Given the description of an element on the screen output the (x, y) to click on. 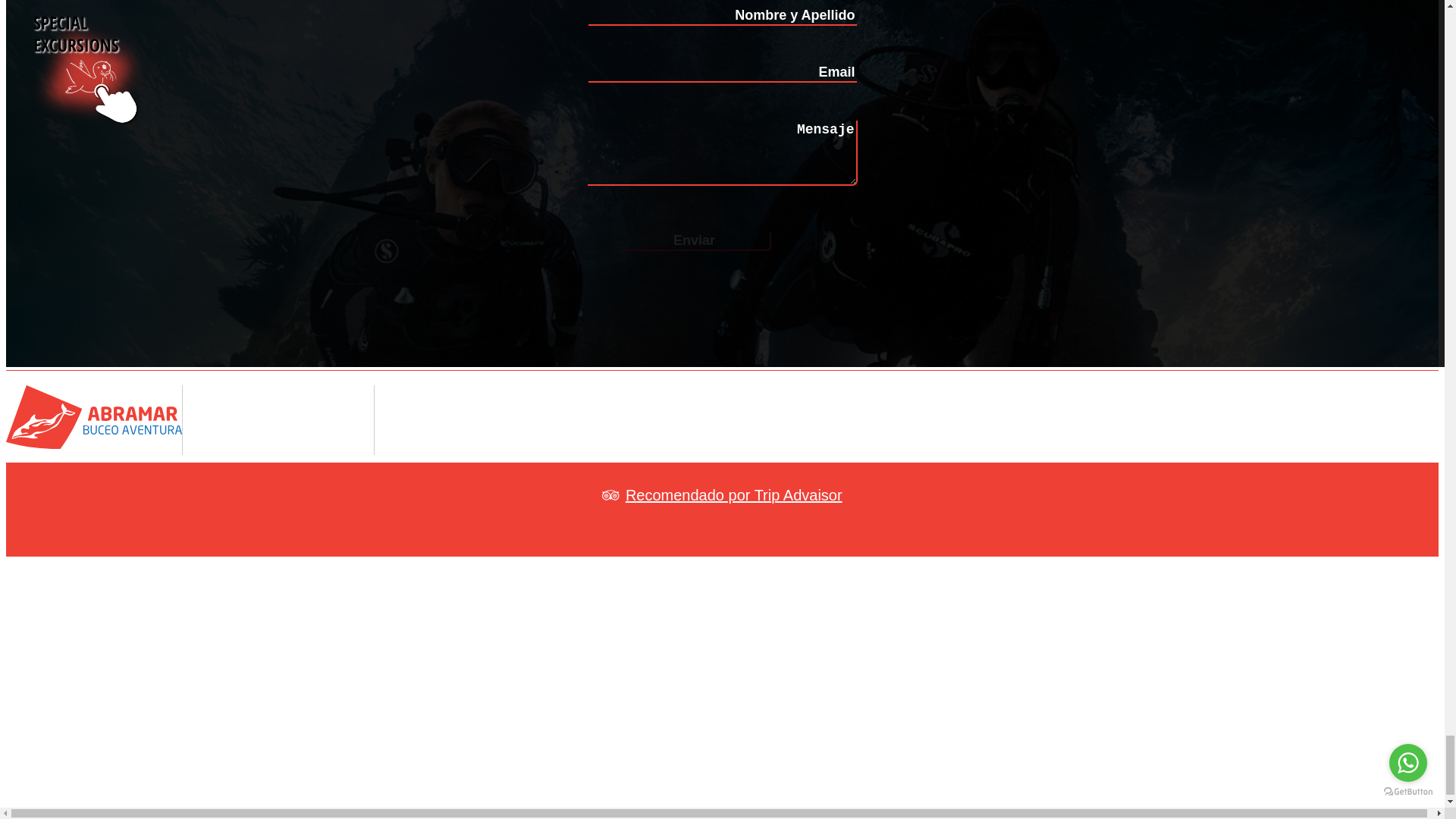
Enviar (694, 240)
Recomendado por Trip Advaisor (721, 494)
Enviar (694, 240)
